Given the description of an element on the screen output the (x, y) to click on. 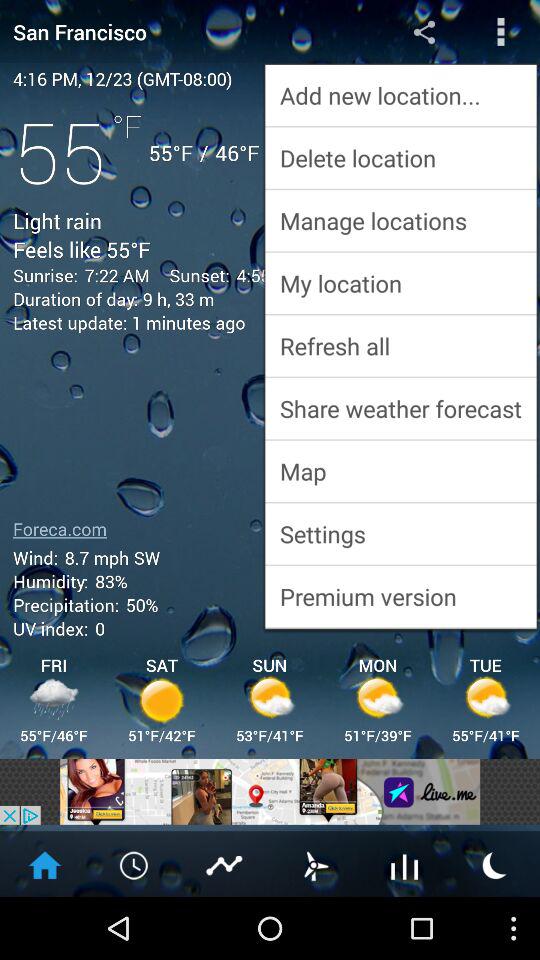
scroll until the manage locations icon (400, 220)
